Given the description of an element on the screen output the (x, y) to click on. 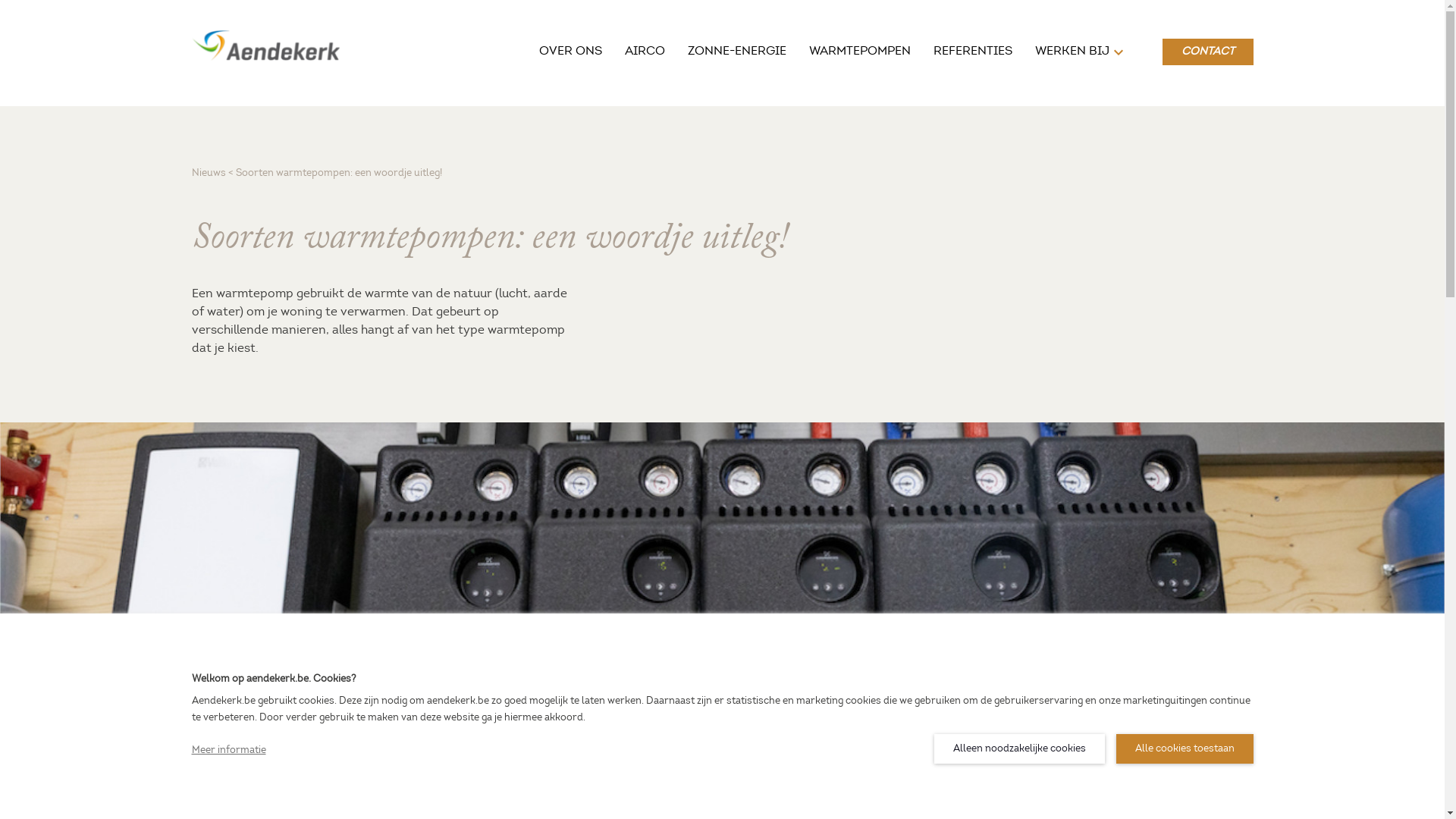
ZONNE-ENERGIE Element type: text (736, 51)
OVER ONS Element type: text (569, 51)
WERKEN BIJ Element type: text (1071, 51)
REFERENTIES Element type: text (971, 51)
Nieuws Element type: text (208, 173)
WARMTEPOMPEN Element type: text (859, 51)
Alleen noodzakelijke cookies Element type: text (1019, 748)
Meer informatie Element type: text (228, 750)
AIRCO Element type: text (644, 51)
Alle cookies toestaan Element type: text (1184, 748)
